Given the description of an element on the screen output the (x, y) to click on. 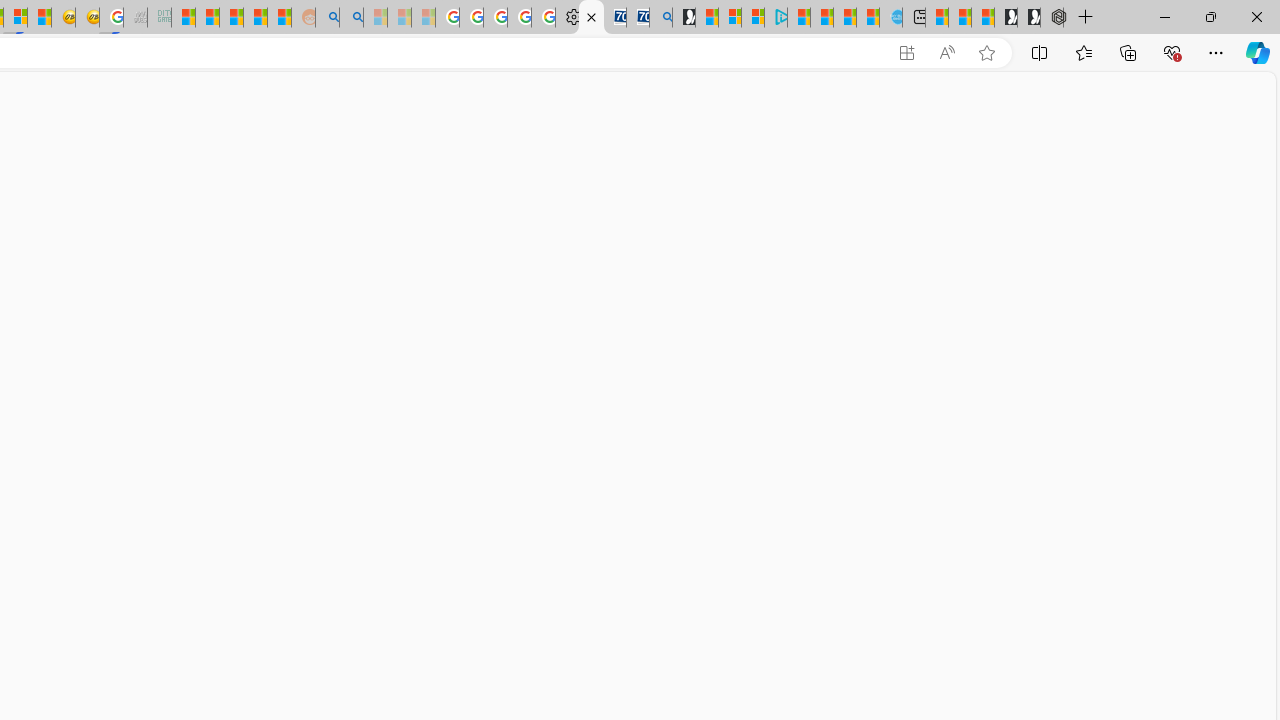
Utah sues federal government - Search (351, 17)
